Given the description of an element on the screen output the (x, y) to click on. 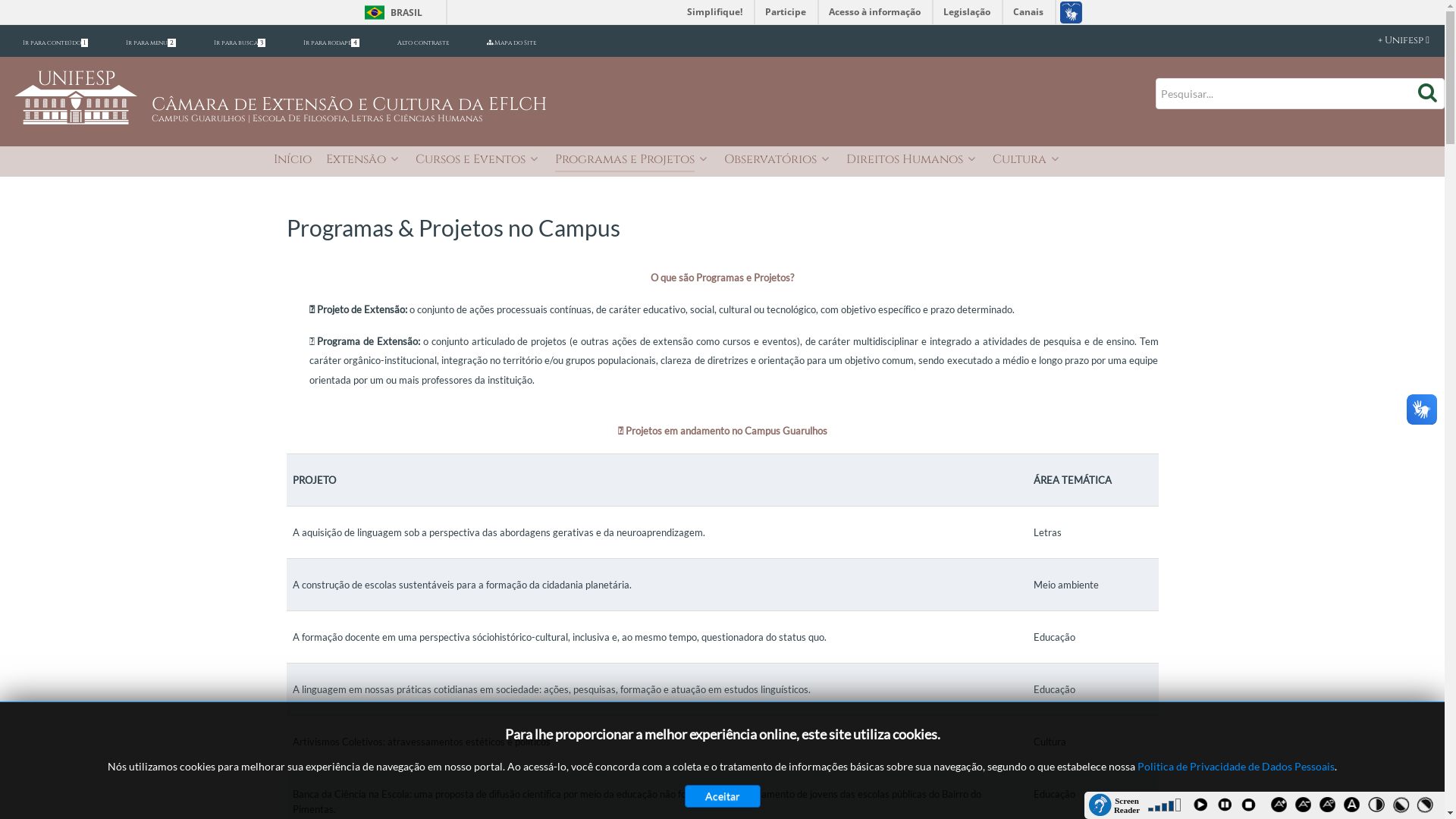
BRASIL Element type: text (389, 12)
Politica de Privacidade de Dados Pessoais Element type: text (1235, 765)
on Element type: text (4, 4)
Ir para menu2 Element type: text (150, 42)
Alto contraste Element type: text (423, 42)
Ir para busca3 Element type: text (239, 42)
Mapa do Site Element type: text (511, 42)
+ Unifesp Element type: text (1387, 40)
